Given the description of an element on the screen output the (x, y) to click on. 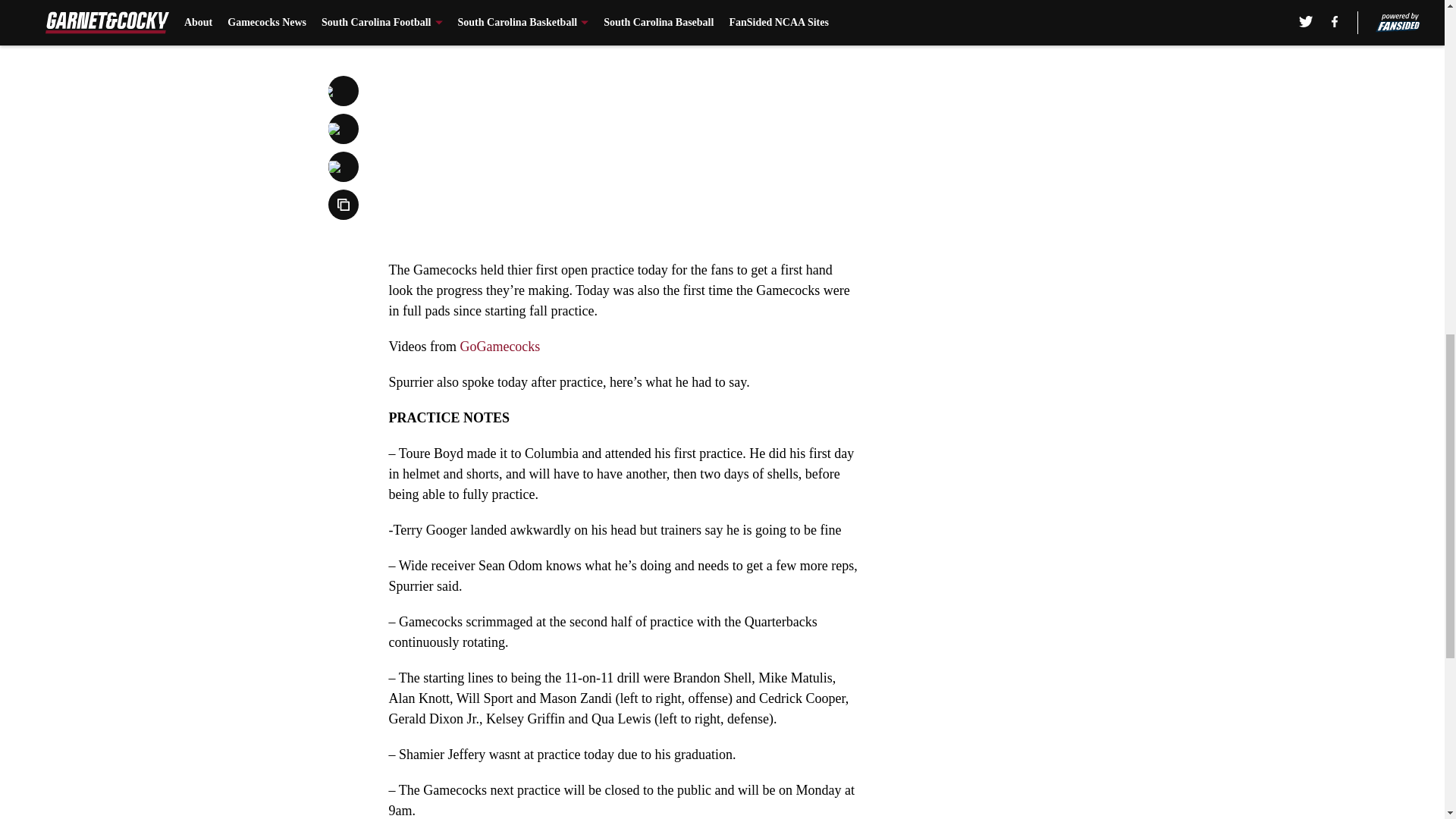
GoGamecocks (500, 346)
